Given the description of an element on the screen output the (x, y) to click on. 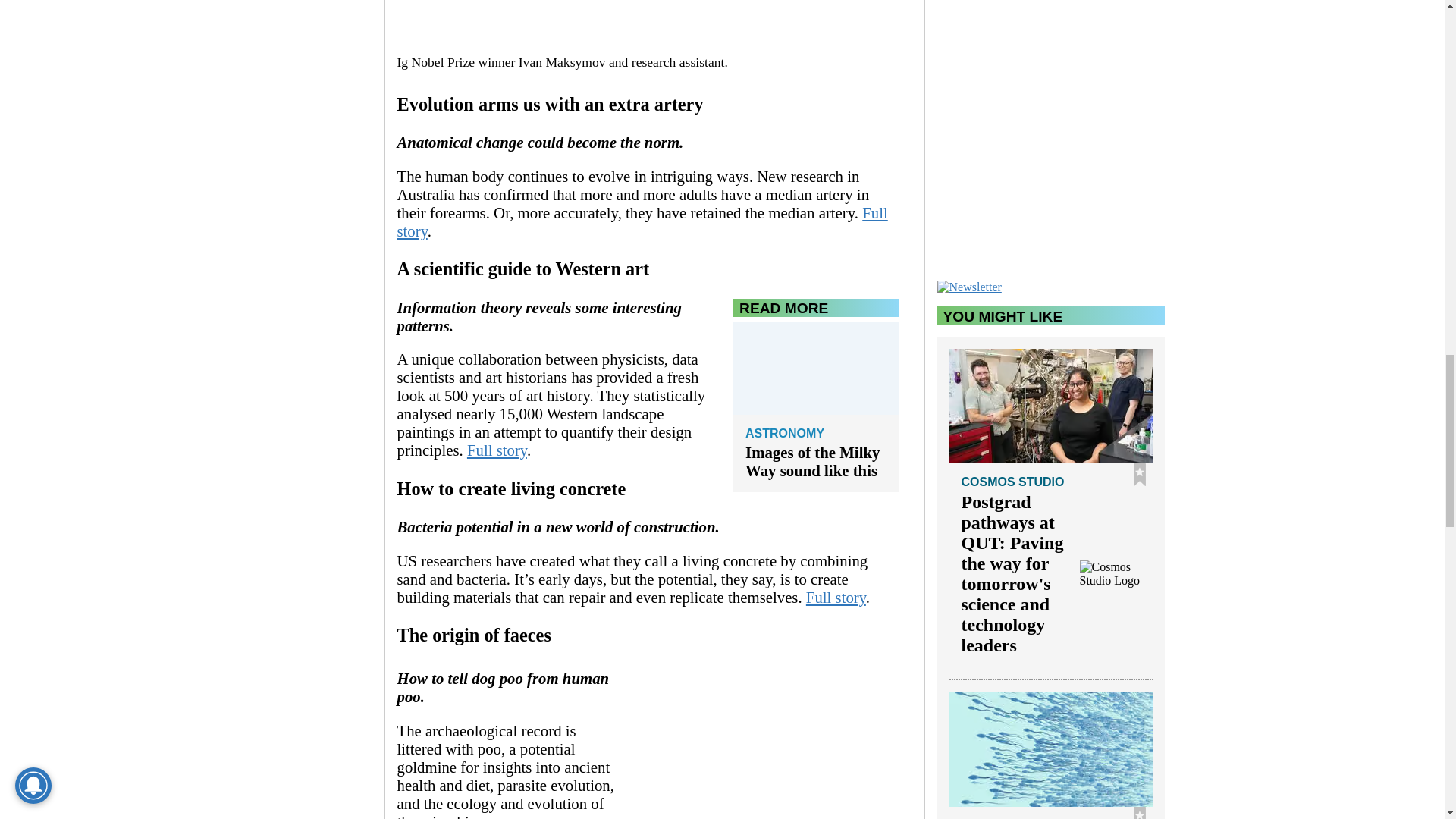
ASTRONOMY (815, 434)
and 12 others that we found intriguing 1 (648, 22)
and 12 others that we found intriguing 3 (772, 741)
Full story (642, 221)
Images of the Milky Way sound like this (815, 461)
